Given the description of an element on the screen output the (x, y) to click on. 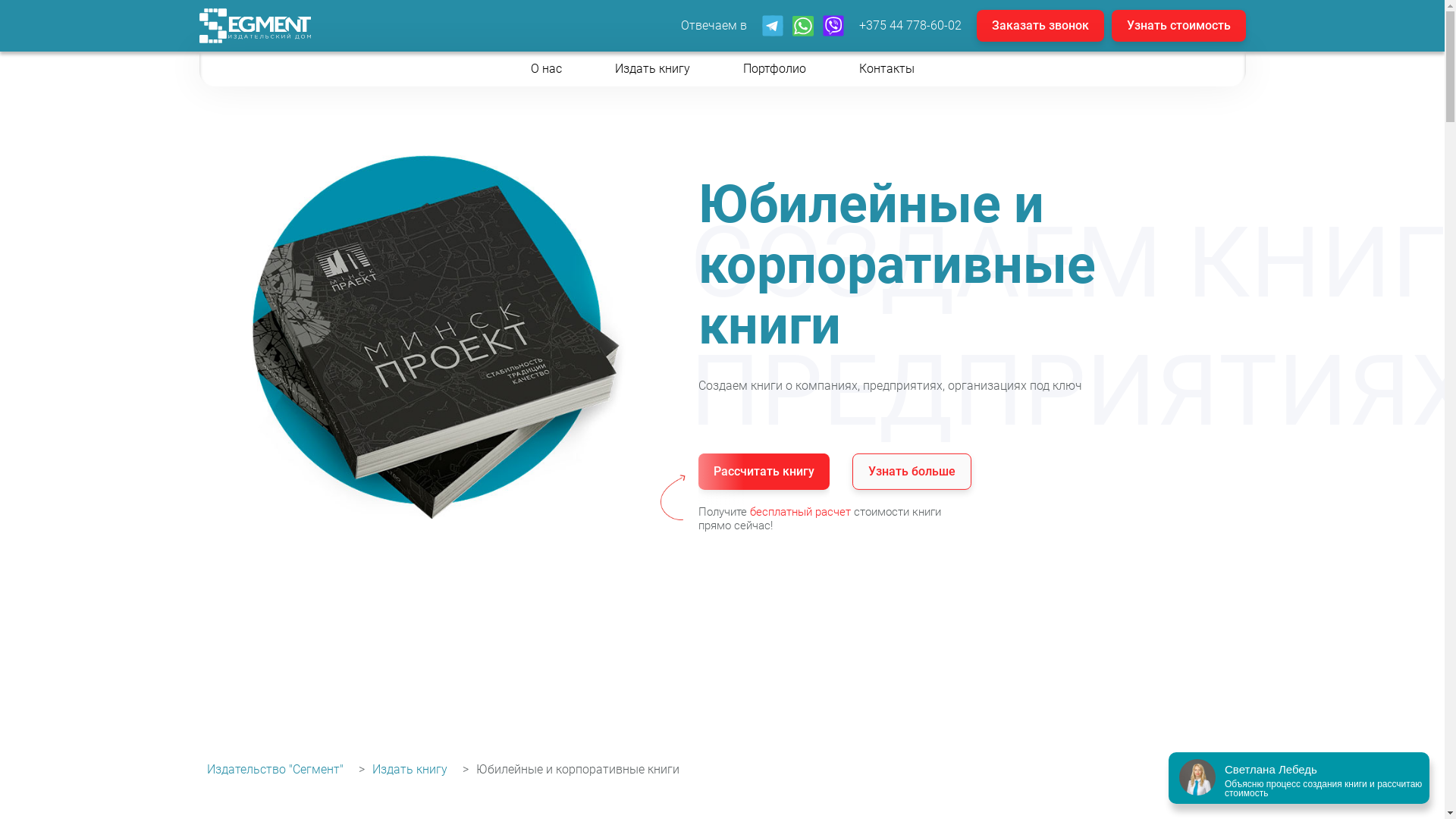
+375 44 778-60-02 Element type: text (909, 25)
